Given the description of an element on the screen output the (x, y) to click on. 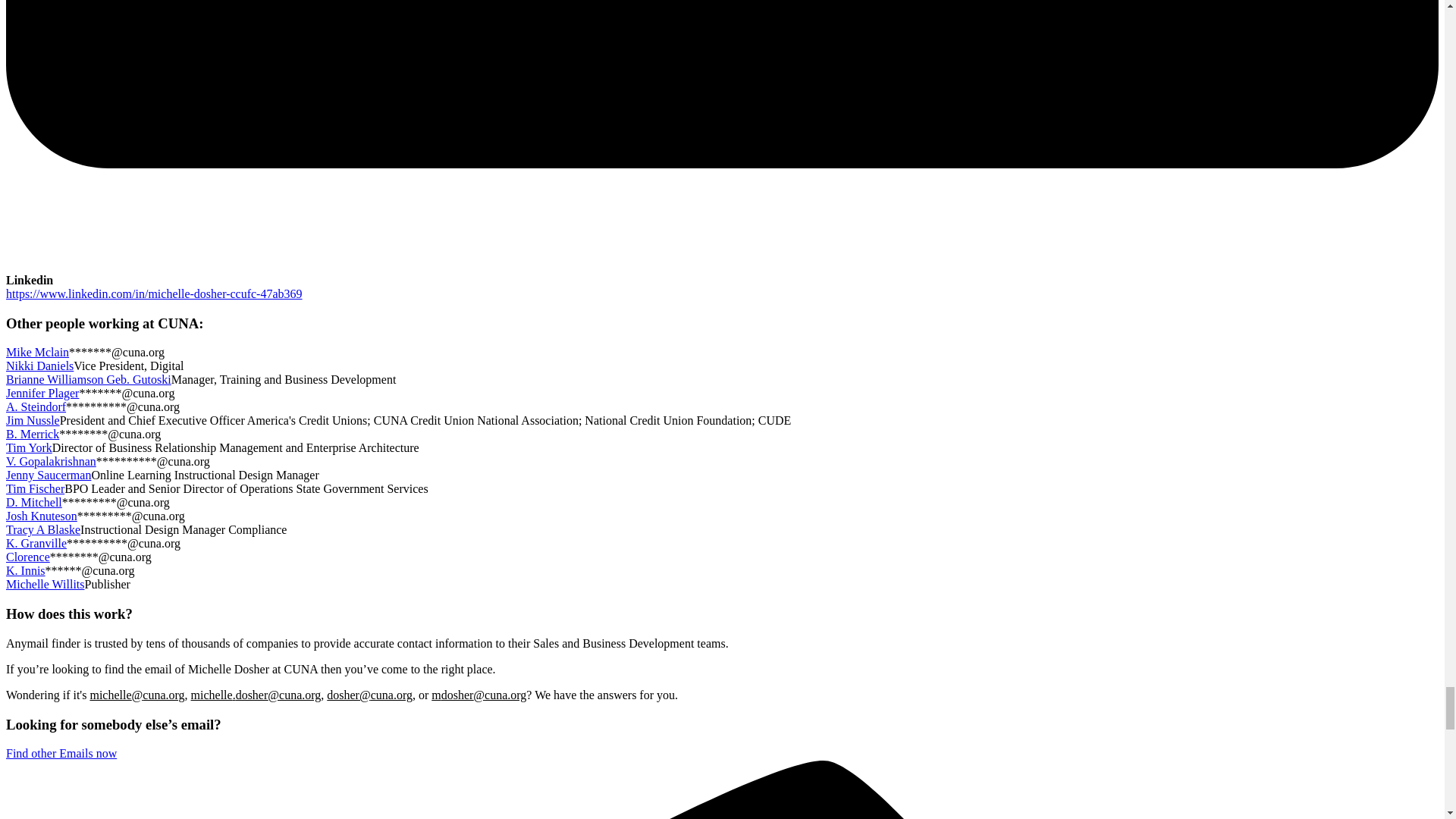
Michelle Willits (44, 584)
Mike Mclain (36, 351)
Tracy A Blaske (42, 529)
Clorence (27, 556)
D. Mitchell (33, 502)
A. Steindorf (35, 406)
Nikki Daniels (39, 365)
Jim Nussle (32, 420)
Find other Emails now (60, 753)
B. Merrick (32, 433)
K. Innis (25, 570)
V. Gopalakrishnan (50, 461)
Jenny Saucerman (47, 474)
Brianne Williamson Geb. Gutoski (88, 379)
Jennifer Plager (41, 392)
